Given the description of an element on the screen output the (x, y) to click on. 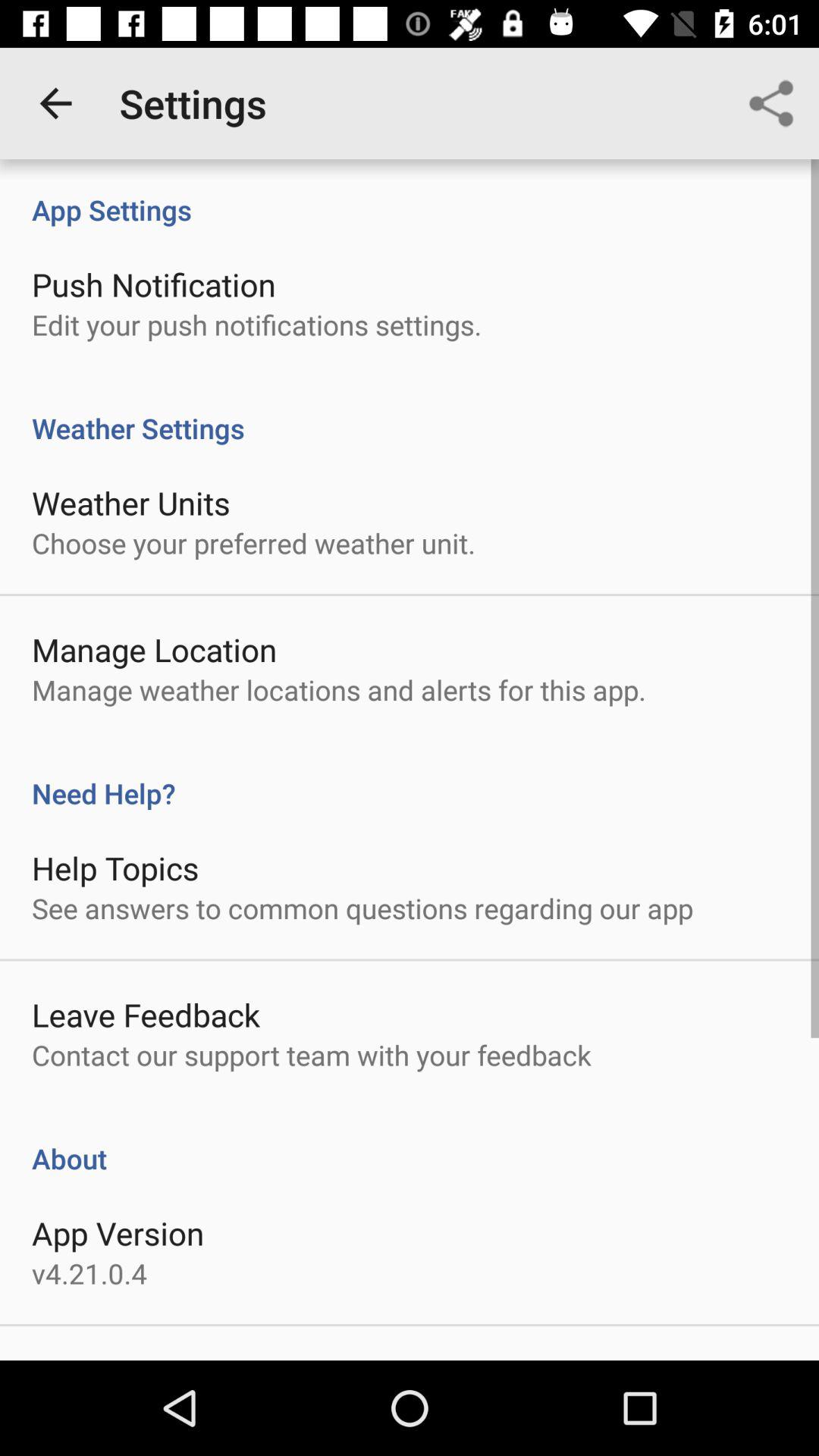
tap item above leave feedback item (362, 908)
